Given the description of an element on the screen output the (x, y) to click on. 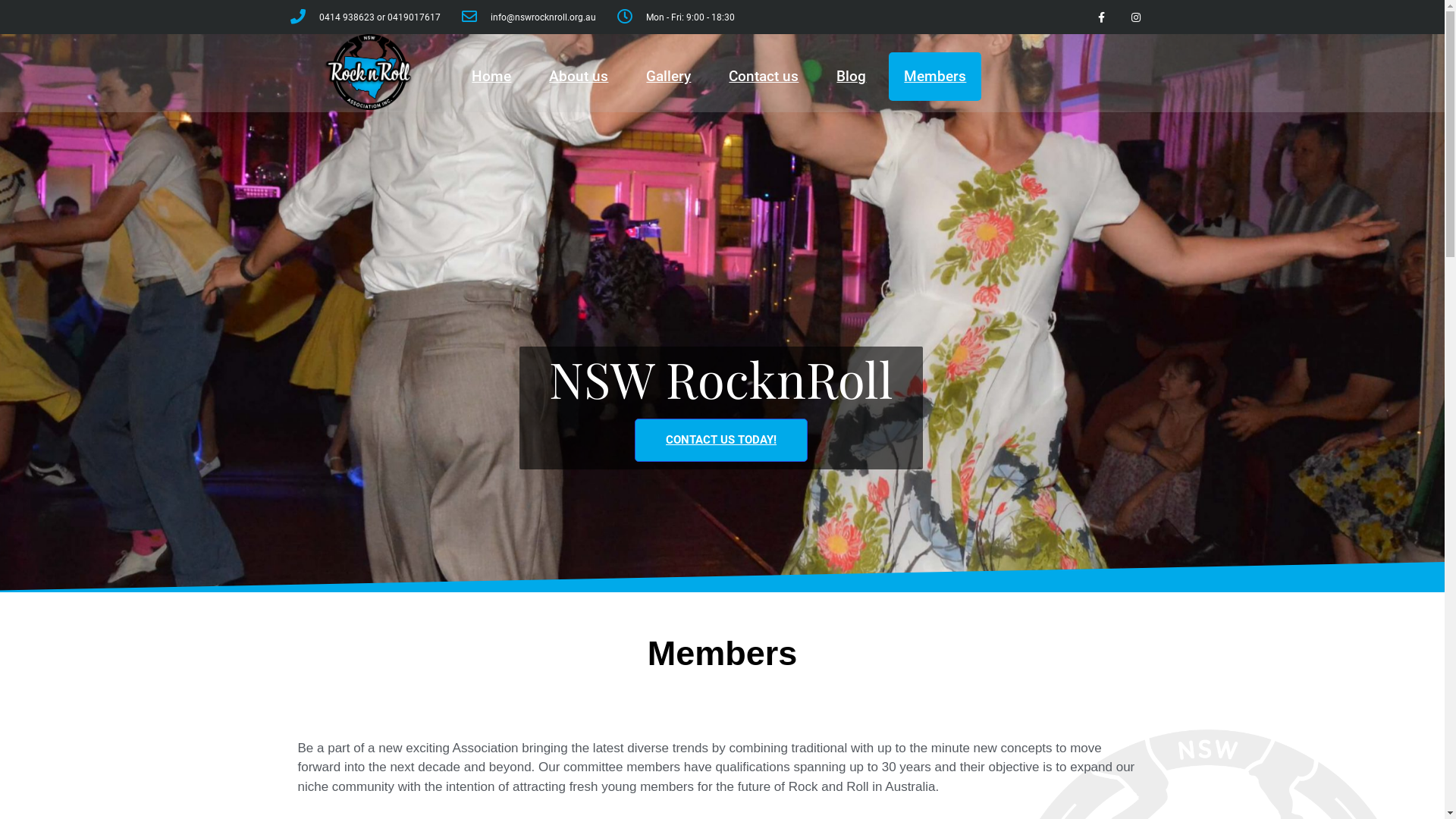
About us Element type: text (578, 76)
CONTACT US TODAY! Element type: text (720, 439)
Contact us Element type: text (763, 76)
Blog Element type: text (851, 76)
Home Element type: text (491, 76)
Members Element type: text (934, 76)
Gallery Element type: text (668, 76)
